Given the description of an element on the screen output the (x, y) to click on. 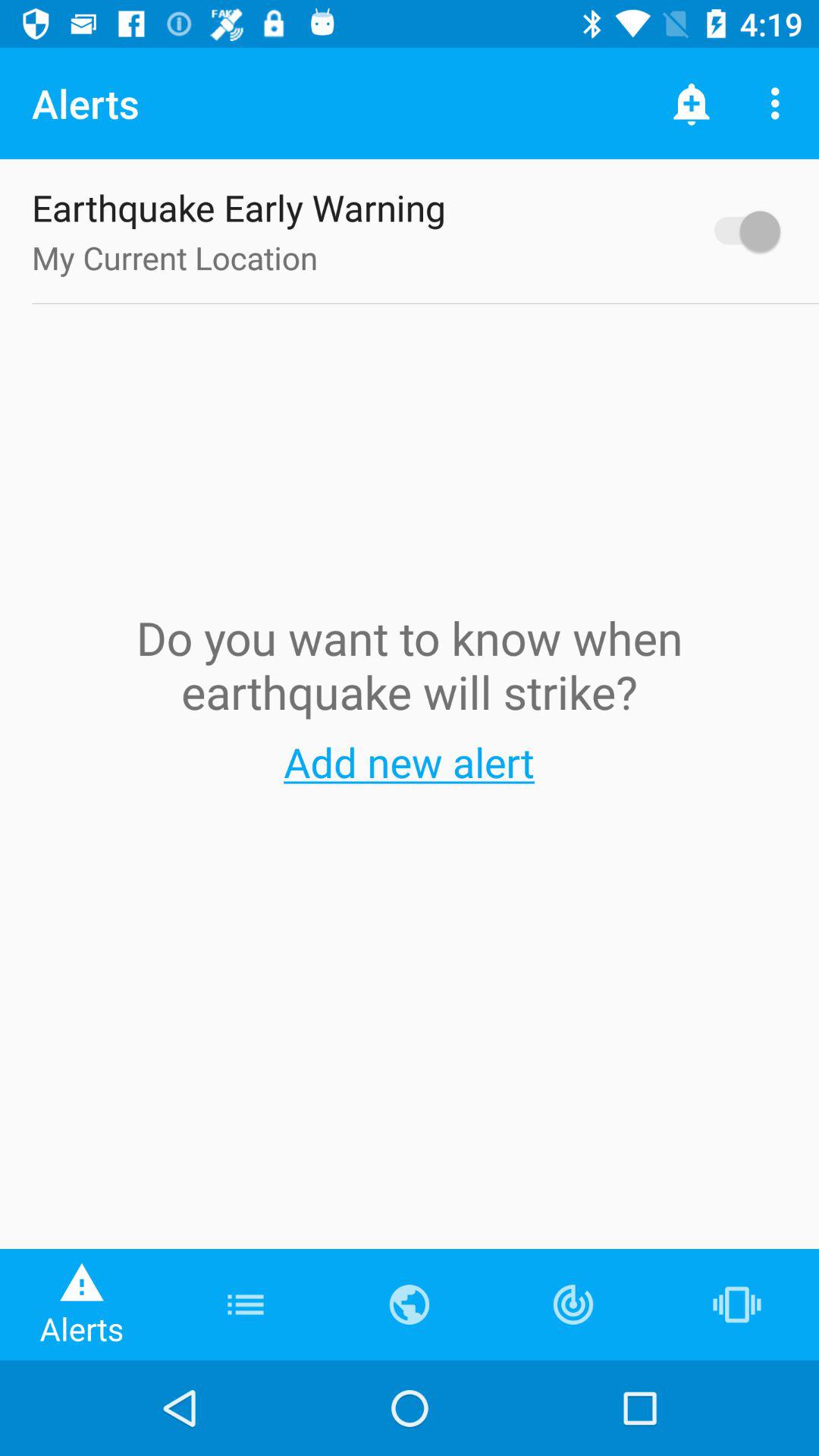
toggle earthquake warning (739, 231)
